Given the description of an element on the screen output the (x, y) to click on. 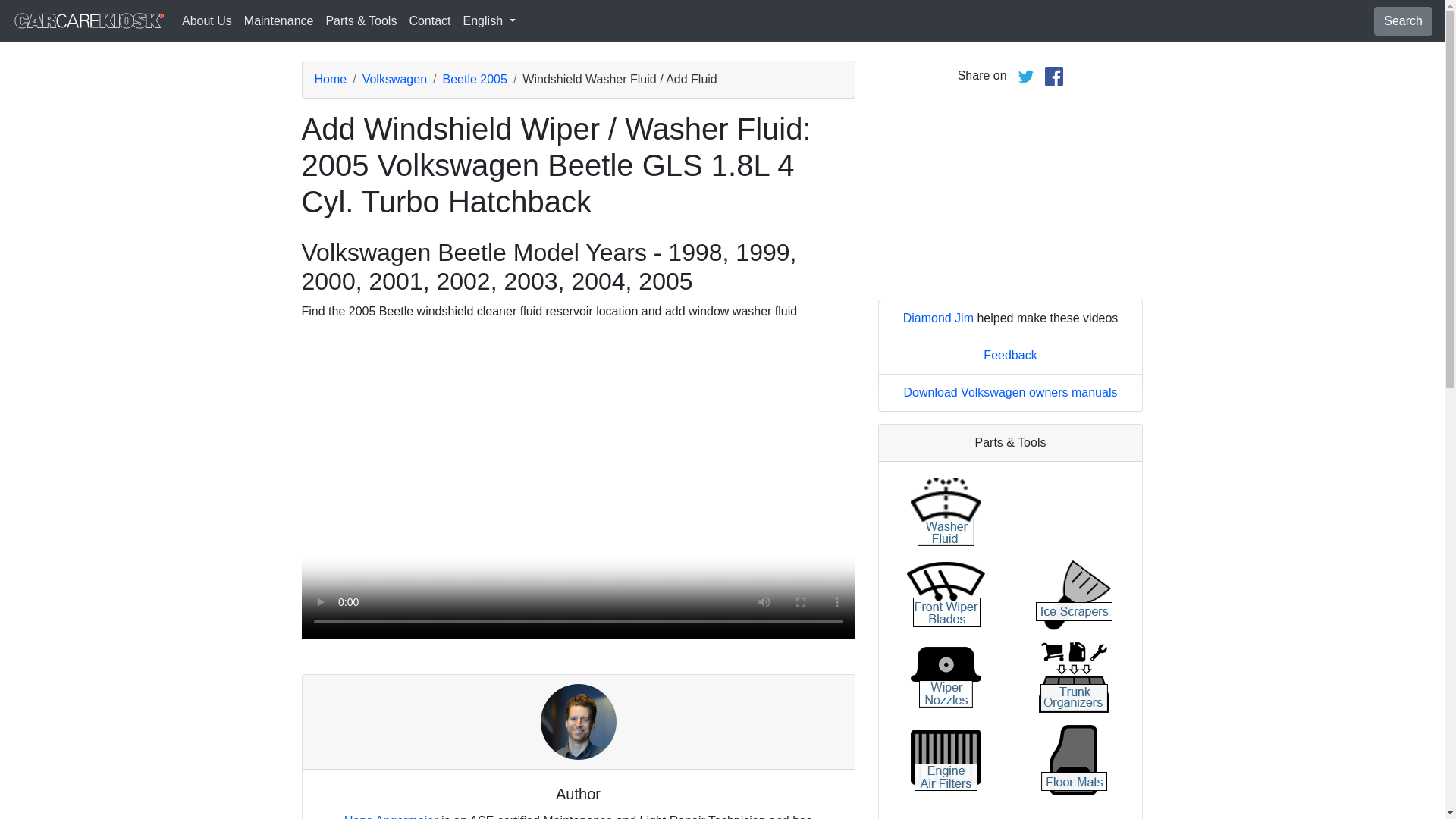
English (489, 20)
Beetle 2005 (474, 79)
Search (1403, 21)
Diamond Jim (938, 318)
Contact (430, 20)
Hans Angermeier (390, 816)
Maintenance (279, 20)
Volkswagen (394, 79)
Feedback (1010, 354)
Home (330, 79)
About Us (207, 20)
Download Volkswagen owners manuals (1011, 391)
